Given the description of an element on the screen output the (x, y) to click on. 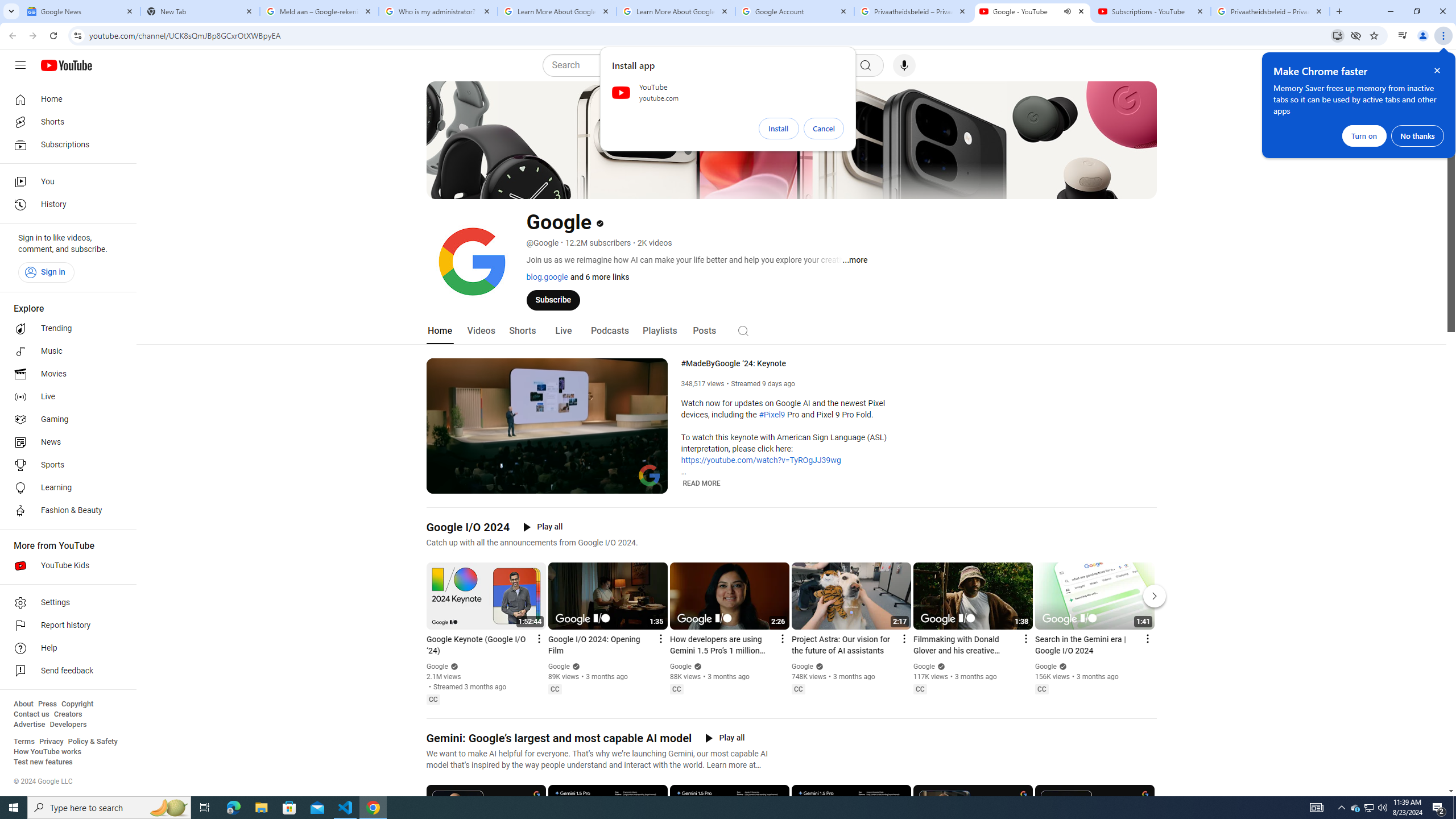
YouTube Home (66, 65)
Posts (703, 330)
Subscriptions (64, 144)
blog.google (546, 276)
Play all (724, 738)
Pause (k) (443, 483)
